Given the description of an element on the screen output the (x, y) to click on. 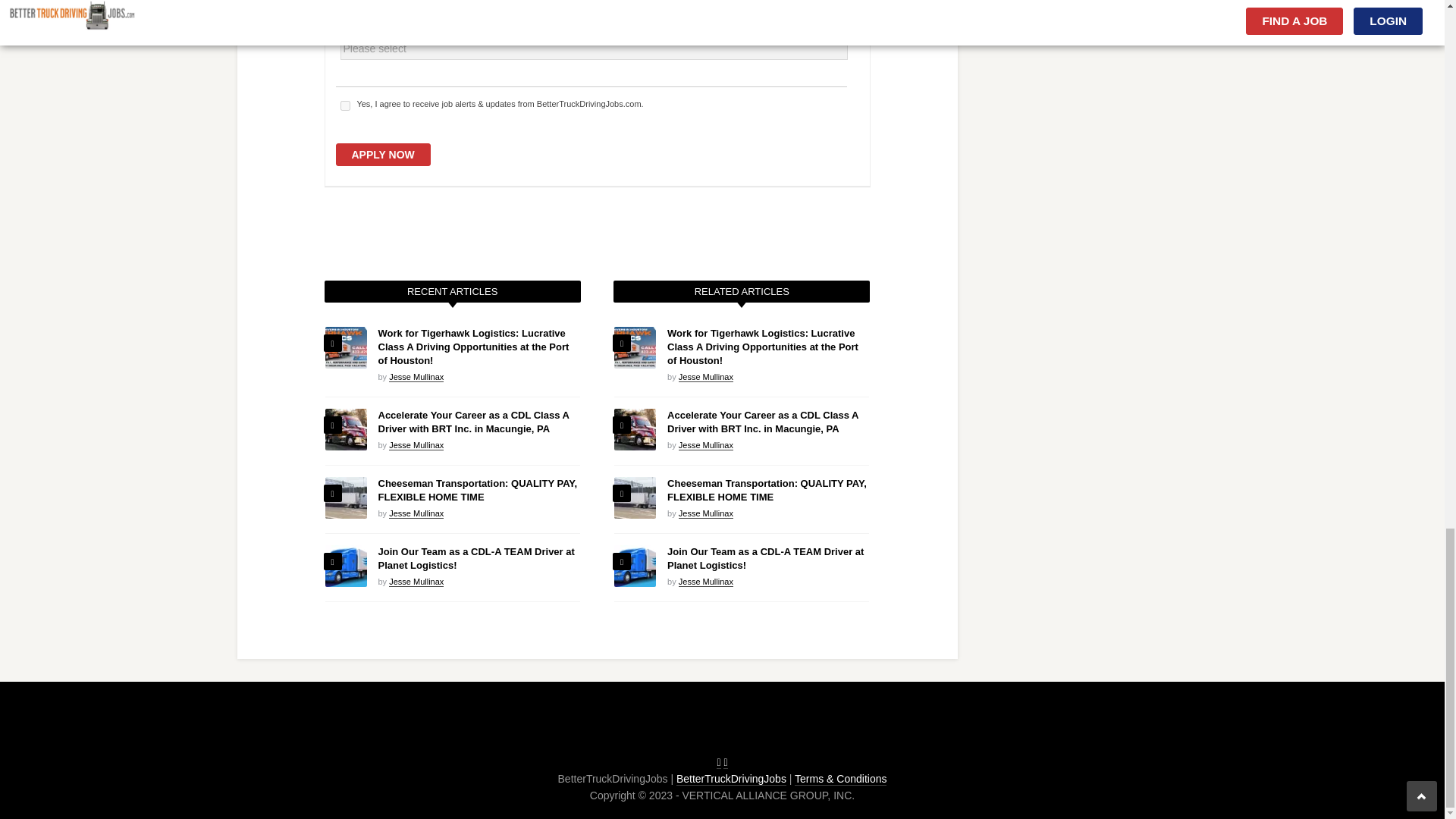
Jesse Mullinax (416, 377)
Posts by Jesse Mullinax (705, 377)
Jesse Mullinax (416, 513)
Posts by Jesse Mullinax (416, 582)
Jesse Mullinax (416, 445)
Jesse Mullinax (416, 582)
Posts by Jesse Mullinax (416, 513)
